Given the description of an element on the screen output the (x, y) to click on. 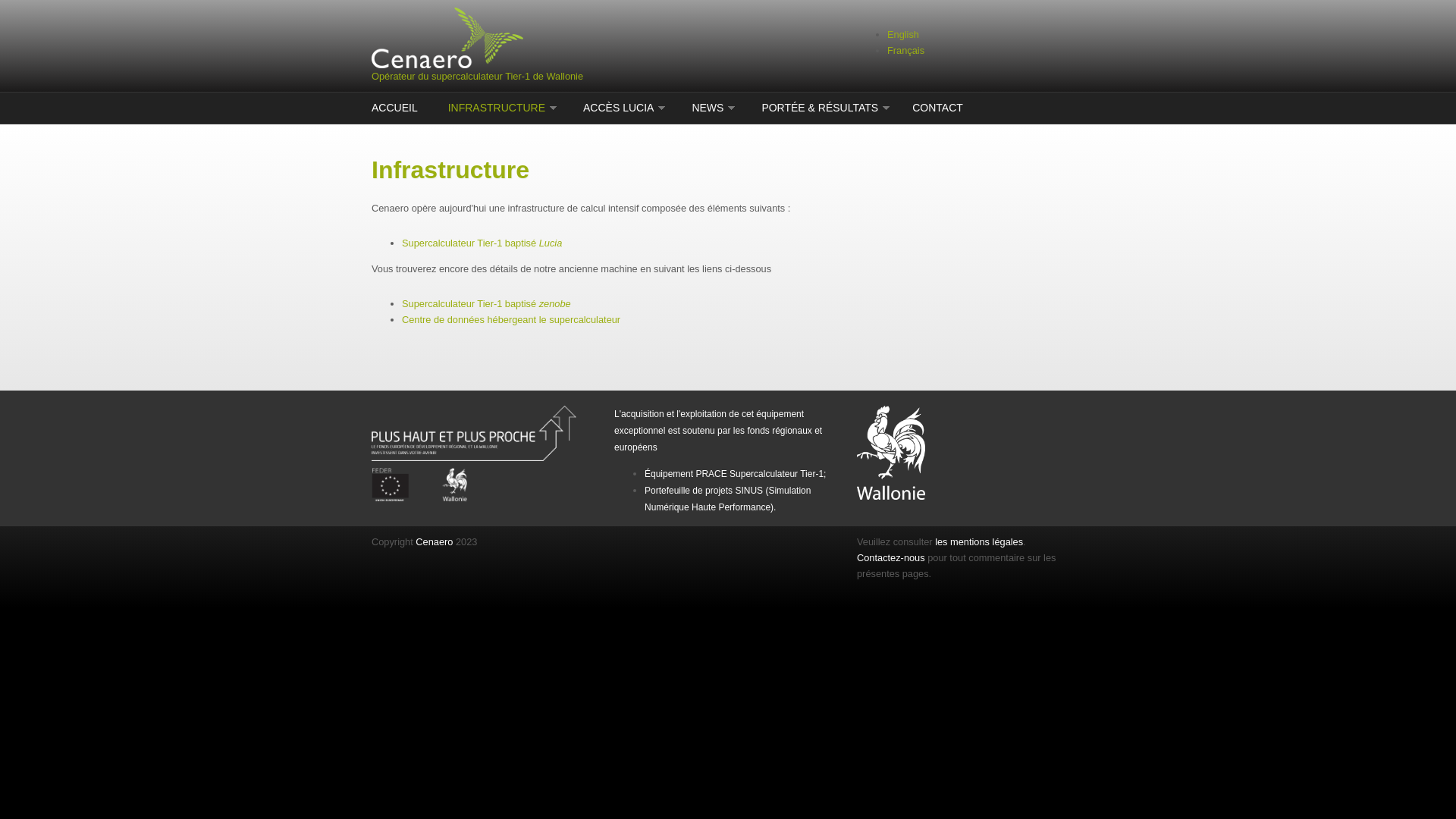
NEWS Element type: text (709, 107)
Cenaero Element type: text (435, 541)
INFRASTRUCTURE Element type: text (498, 107)
English Element type: text (903, 34)
CONTACT Element type: text (935, 107)
Skip to main content Element type: text (43, 0)
Home Element type: hover (606, 37)
ACCUEIL Element type: text (396, 107)
Contactez-nous Element type: text (890, 557)
